Given the description of an element on the screen output the (x, y) to click on. 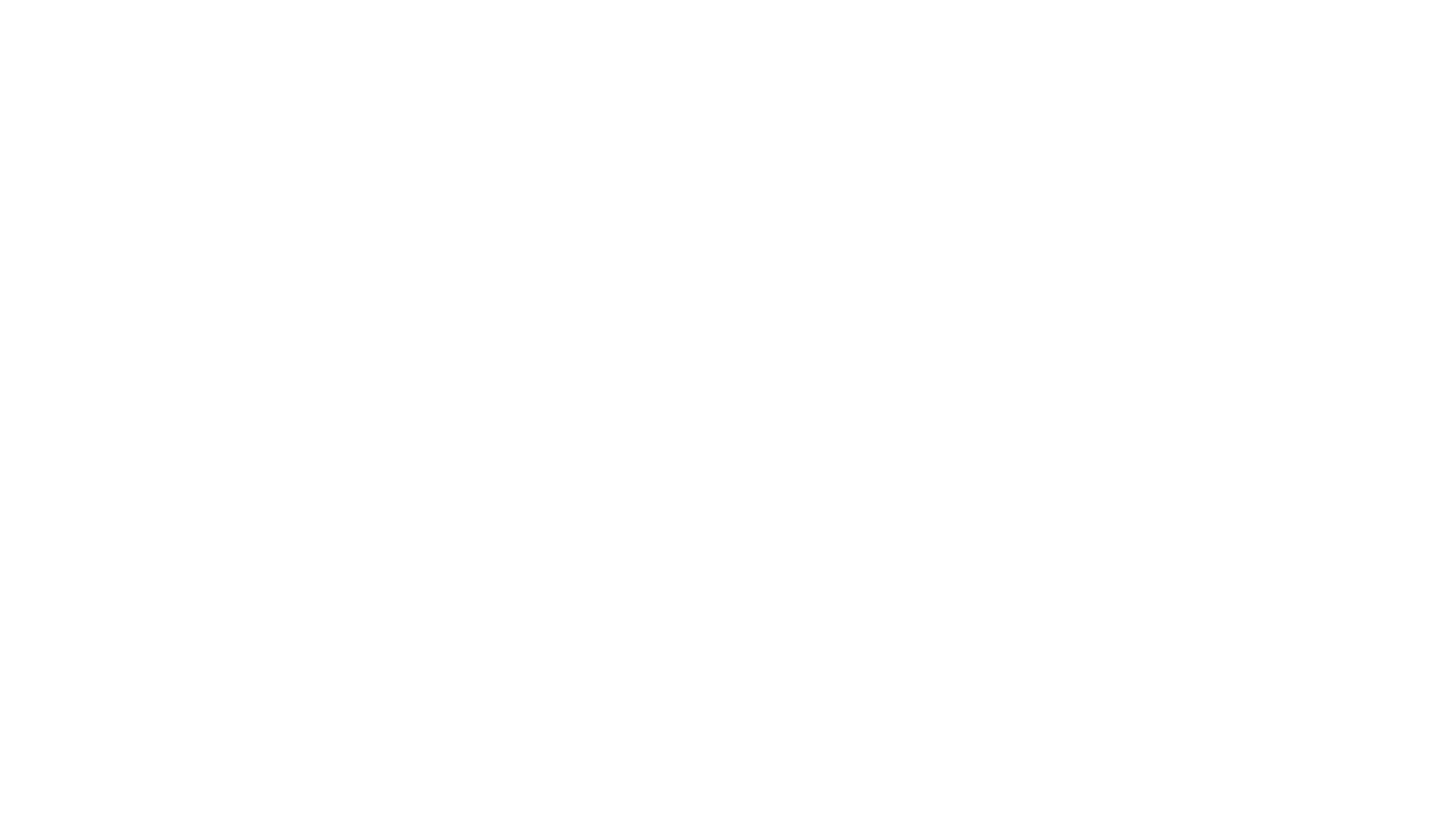
READ MORE Element type: text (343, 311)
INSTAGRAM Element type: text (791, 500)
SOBRE NOSOTROS Element type: text (697, 36)
FACEBOOK Element type: text (714, 500)
PROYECTOS 3D Element type: text (932, 36)
BLOG Element type: text (1009, 36)
INICIO Element type: text (611, 36)
TWITTER Element type: text (644, 500)
jlzurita Element type: text (424, 198)
CONTACTO Element type: text (1125, 36)
FAQS Element type: text (1061, 36)
Comments (0) Element type: text (497, 198)
3DZings Element type: text (678, 531)
